Given the description of an element on the screen output the (x, y) to click on. 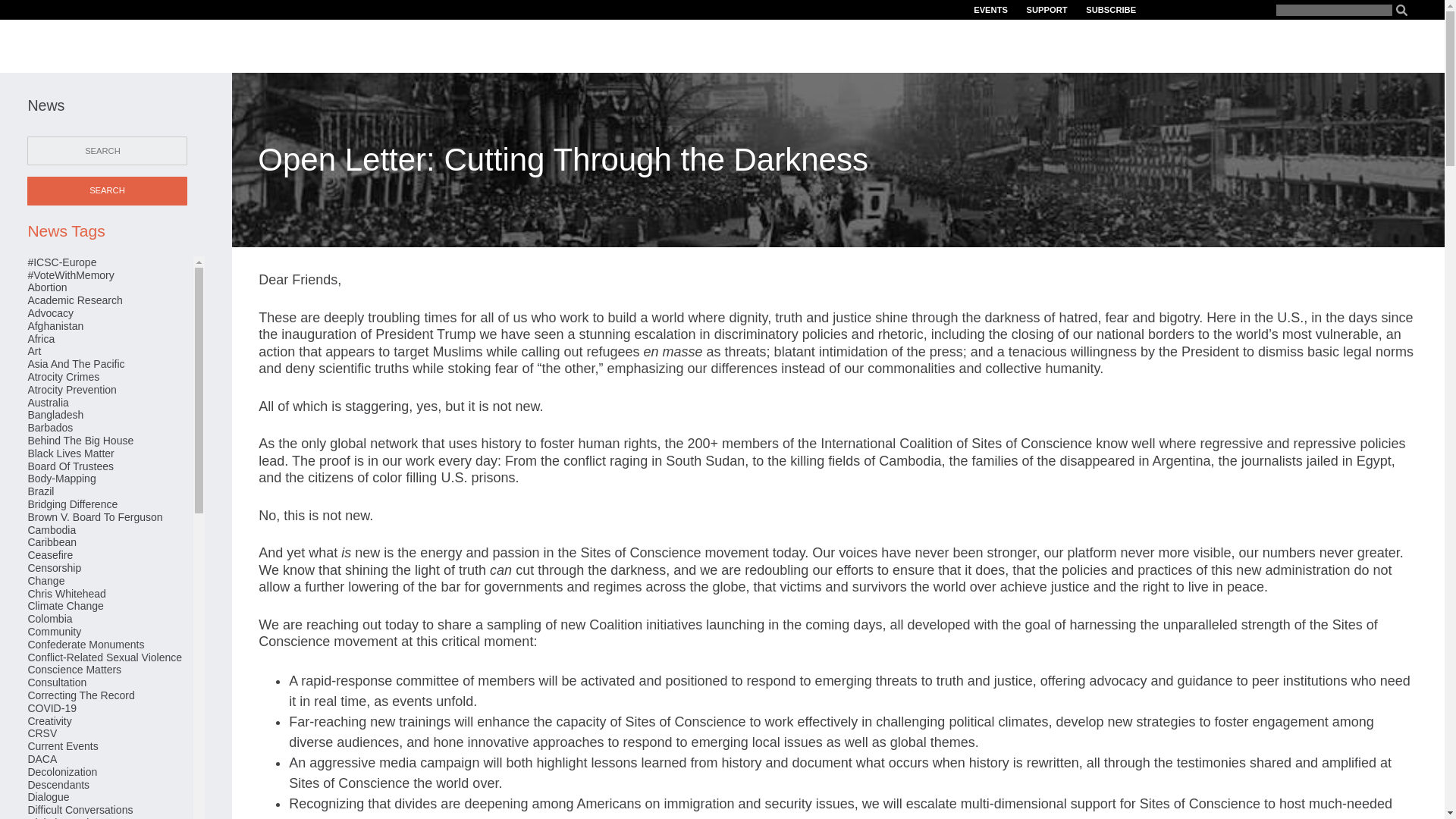
atrocity crimes (63, 377)
EVENTS (990, 11)
ABOUT US (1010, 46)
IMPACT (1217, 46)
CONTACT (1395, 46)
academic research (74, 300)
SUPPORT (1046, 11)
Africa (41, 338)
Afghanistan (54, 326)
NEWS (1342, 46)
